Given the description of an element on the screen output the (x, y) to click on. 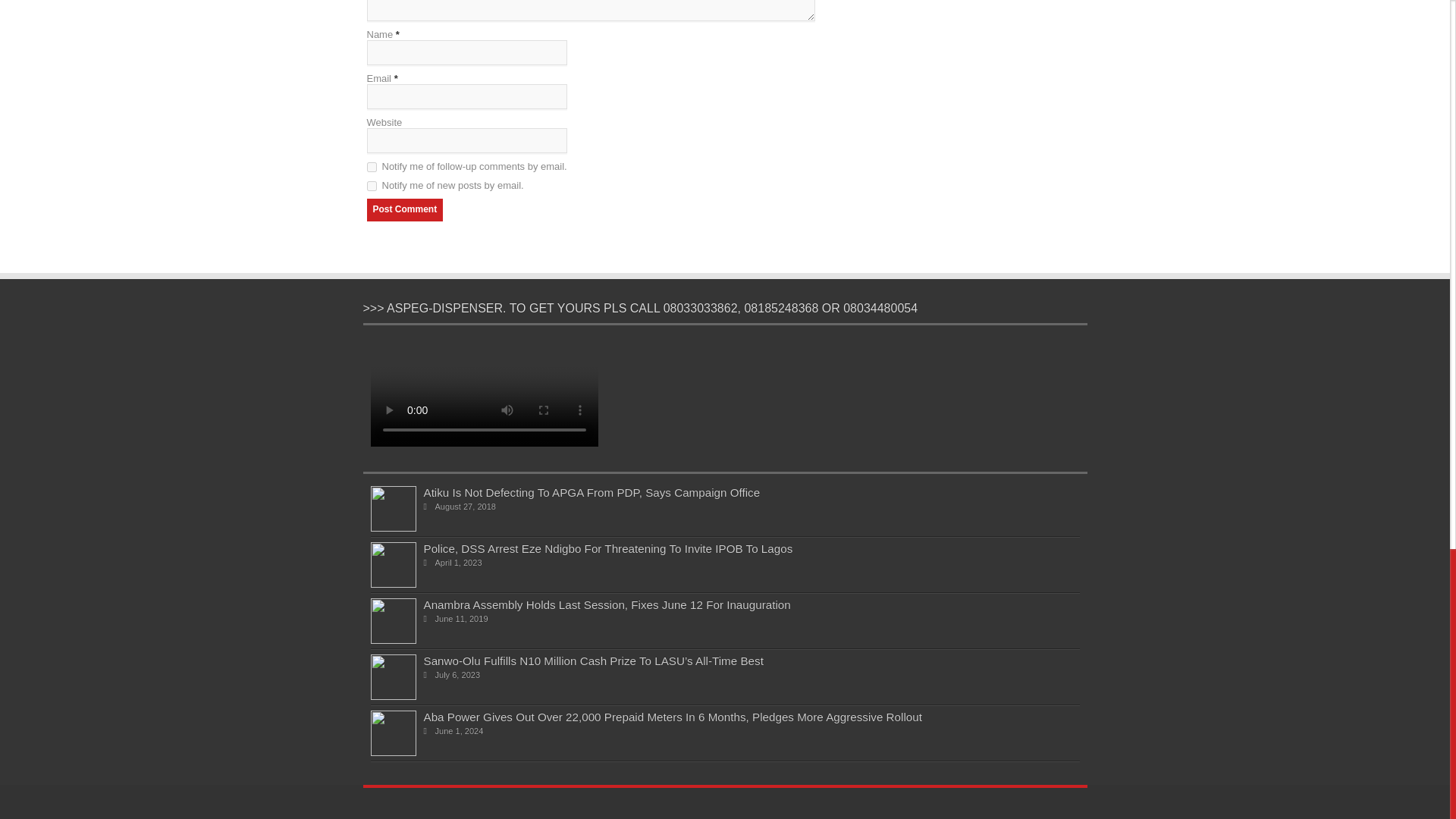
subscribe (371, 185)
Post Comment (405, 210)
Post Comment (405, 210)
subscribe (371, 166)
